Given the description of an element on the screen output the (x, y) to click on. 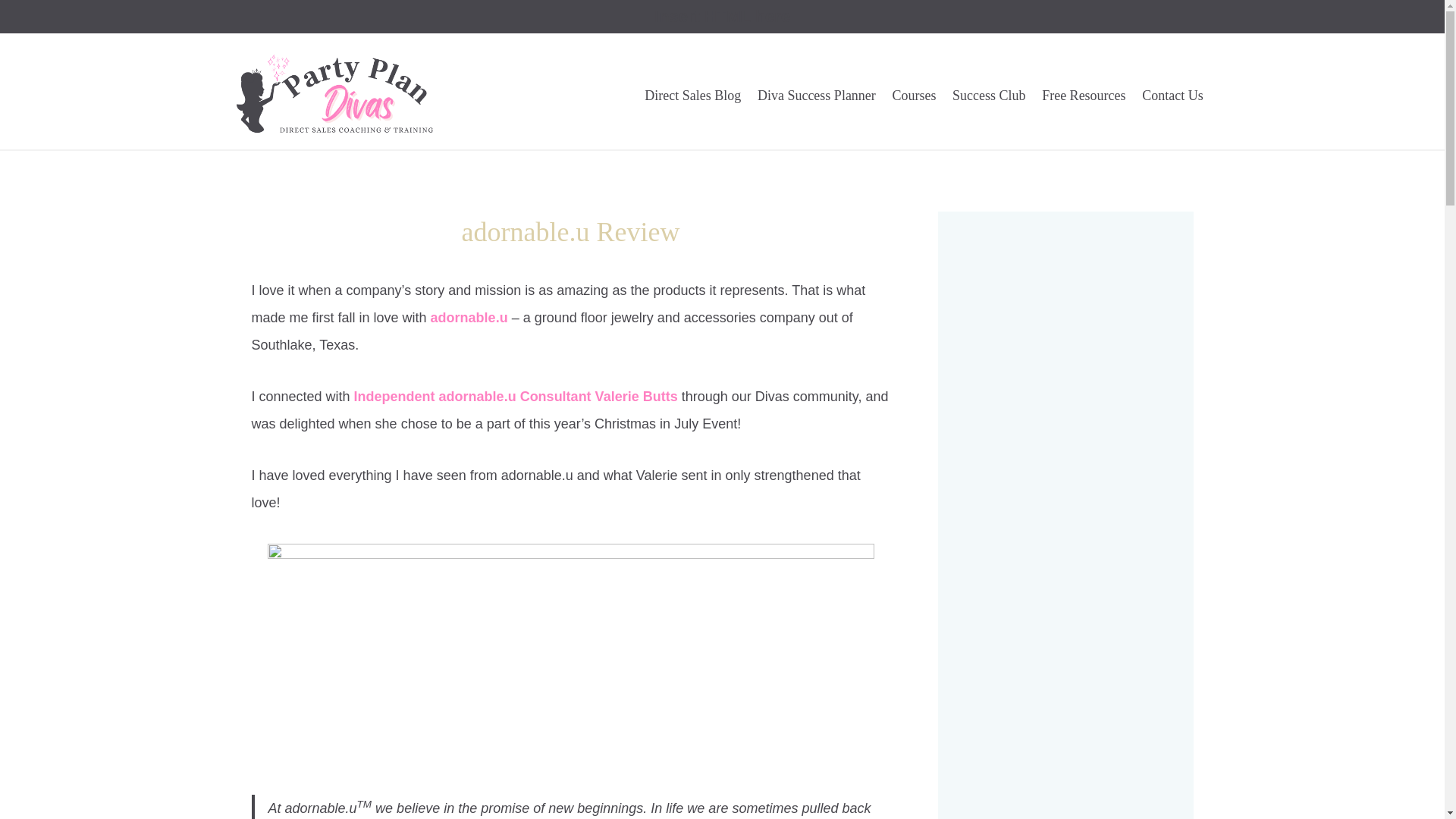
Contact Us (1172, 95)
Success Club (988, 95)
Diva Success Planner (816, 95)
Independent adornable.u Consultant Valerie Butts (515, 396)
Direct Sales Blog (693, 95)
adornable.u (469, 317)
Free Resources (1083, 95)
Courses (913, 95)
